Given the description of an element on the screen output the (x, y) to click on. 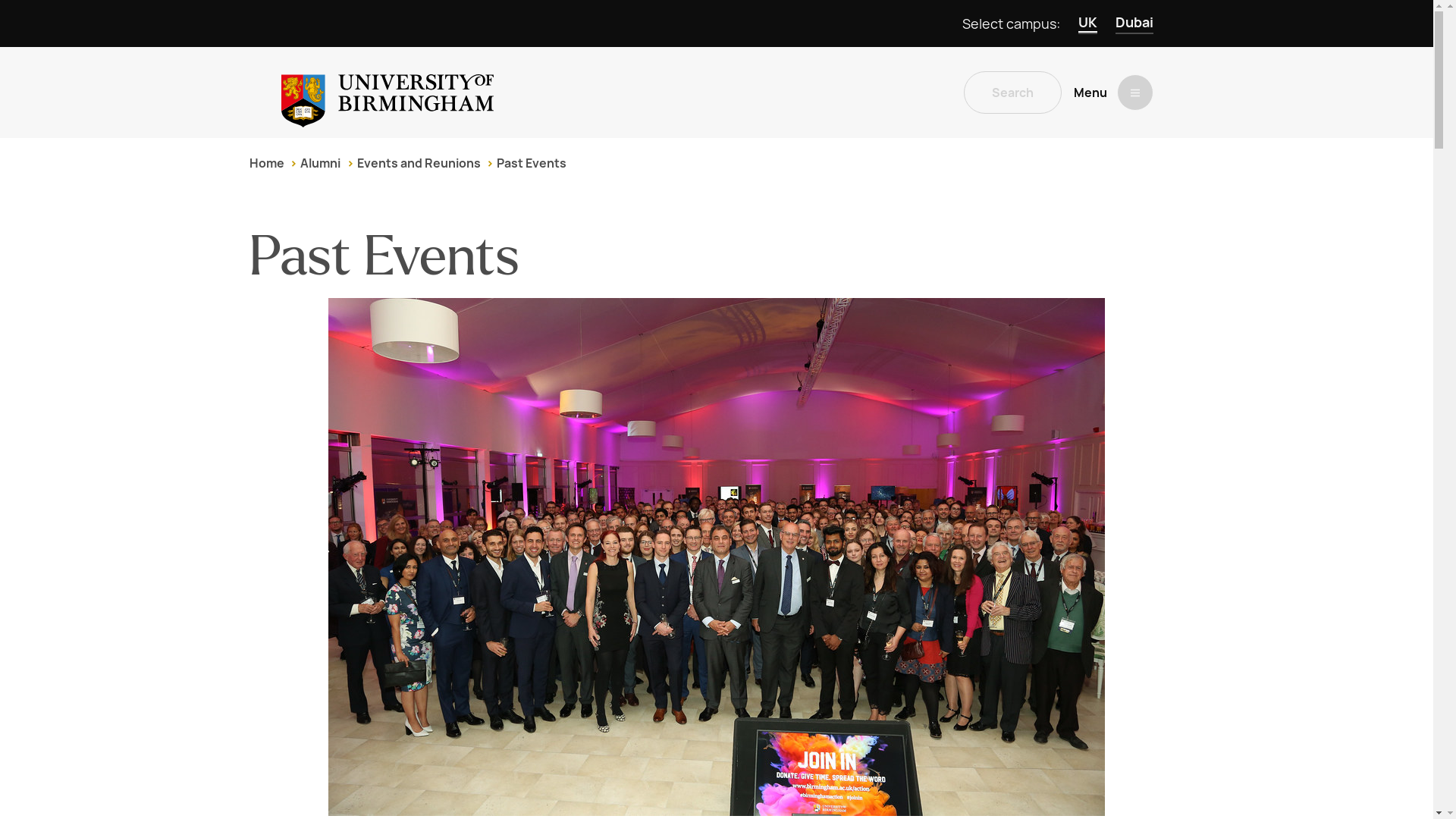
Alumni (319, 162)
Events and Reunions (418, 162)
Search (1012, 92)
Past Events (531, 162)
Dubai (1134, 23)
UK (1087, 23)
Home (265, 162)
